Given the description of an element on the screen output the (x, y) to click on. 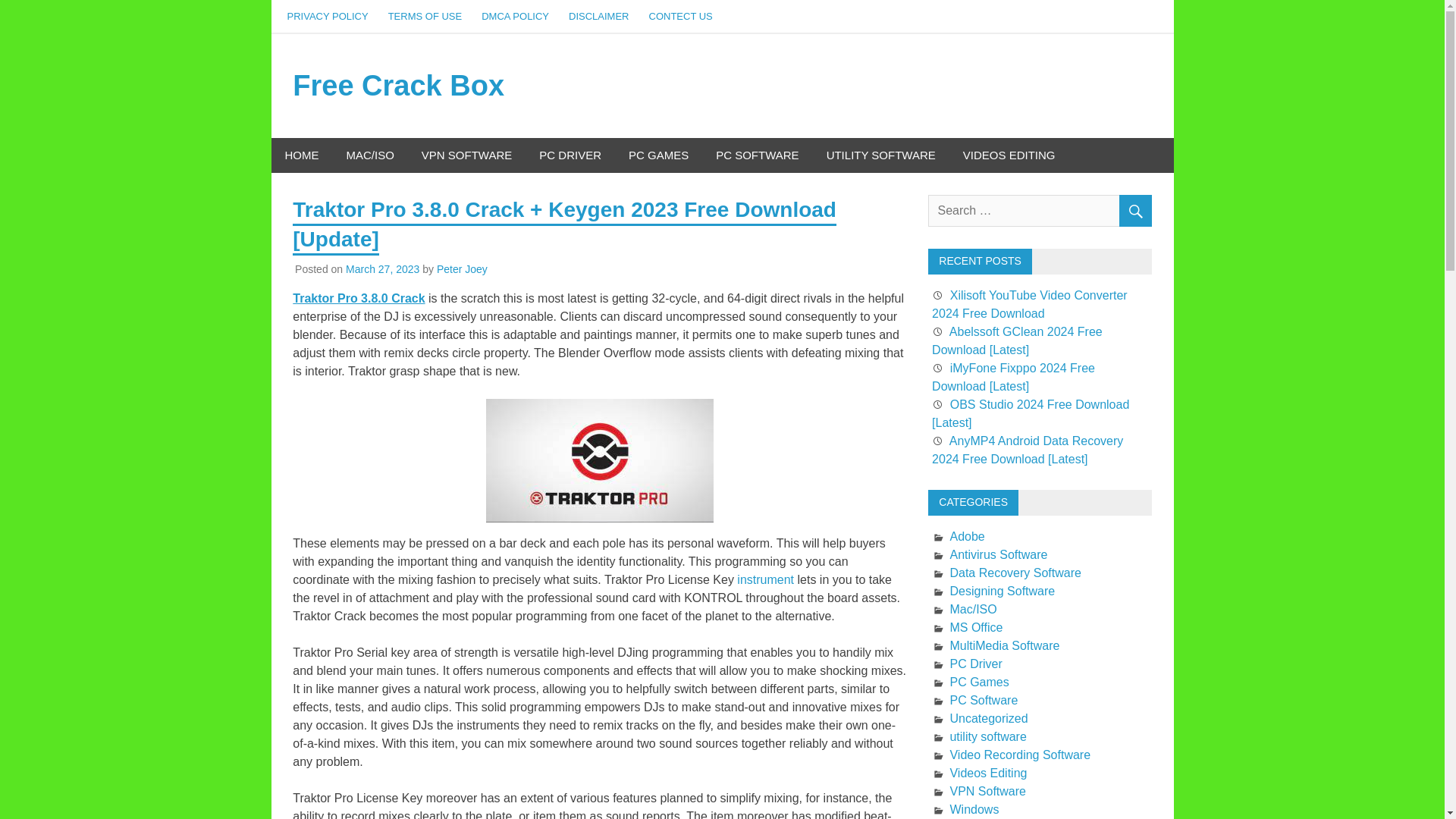
DMCA POLICY (515, 16)
Free Crack Box (397, 85)
Data Recovery Software (1014, 572)
instrument (766, 579)
DISCLAIMER (599, 16)
VPN SOFTWARE (466, 155)
Adobe (966, 535)
Traktor Pro 3.8.0 Crack (358, 297)
MS Office (976, 626)
PC DRIVER (569, 155)
